Given the description of an element on the screen output the (x, y) to click on. 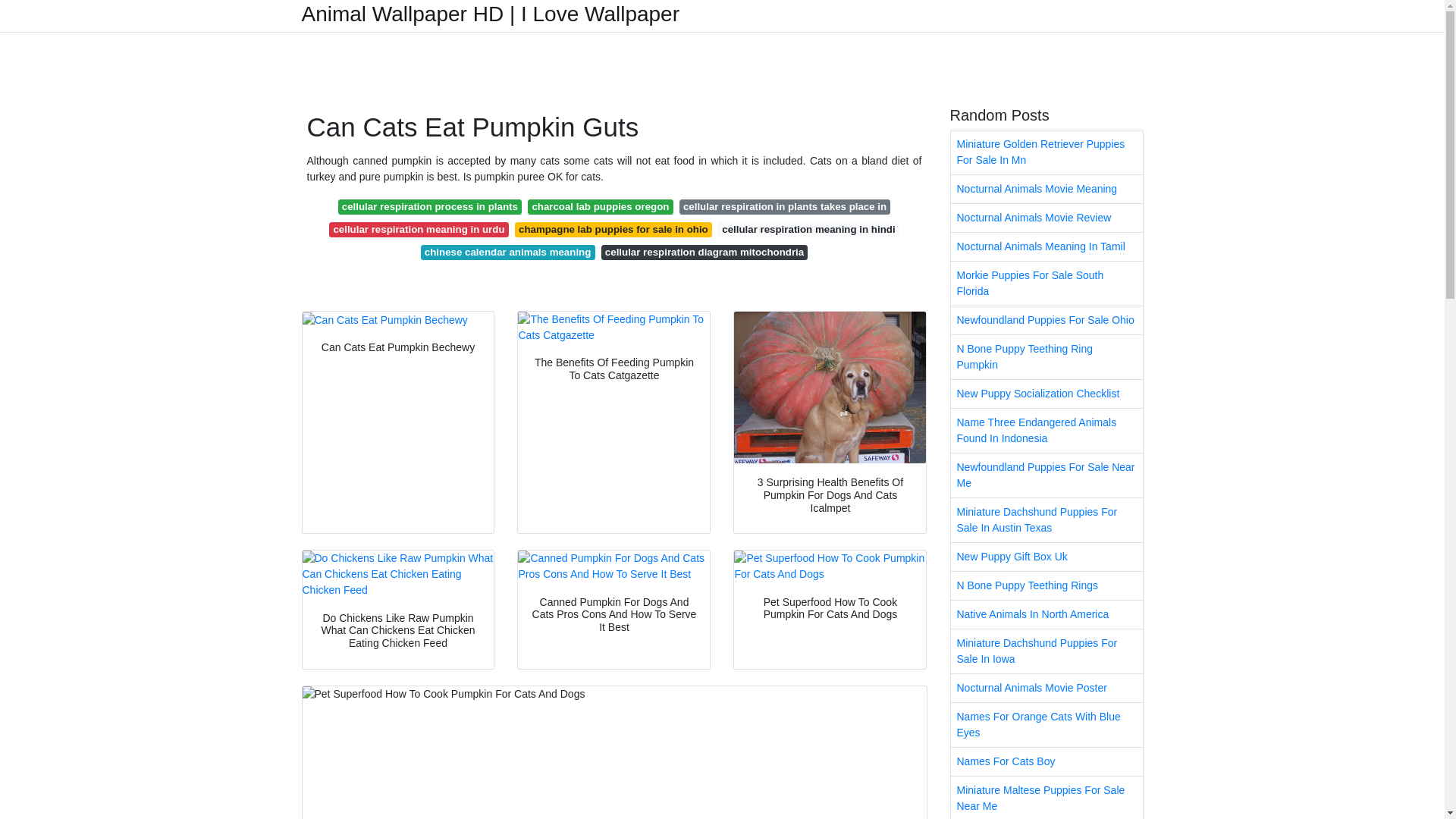
cellular respiration in plants takes place in (785, 206)
cellular respiration diagram mitochondria (704, 252)
Morkie Puppies For Sale South Florida (1046, 283)
Newfoundland Puppies For Sale Ohio (1046, 320)
New Puppy Socialization Checklist (1046, 393)
Name Three Endangered Animals Found In Indonesia (1046, 430)
champagne lab puppies for sale in ohio (613, 229)
cellular respiration meaning in urdu (418, 229)
Miniature Golden Retriever Puppies For Sale In Mn (1046, 152)
N Bone Puppy Teething Ring Pumpkin (1046, 356)
cellular respiration process in plants (429, 206)
Newfoundland Puppies For Sale Near Me (1046, 475)
charcoal lab puppies oregon (599, 206)
cellular respiration meaning in hindi (808, 229)
Nocturnal Animals Meaning In Tamil (1046, 246)
